Given the description of an element on the screen output the (x, y) to click on. 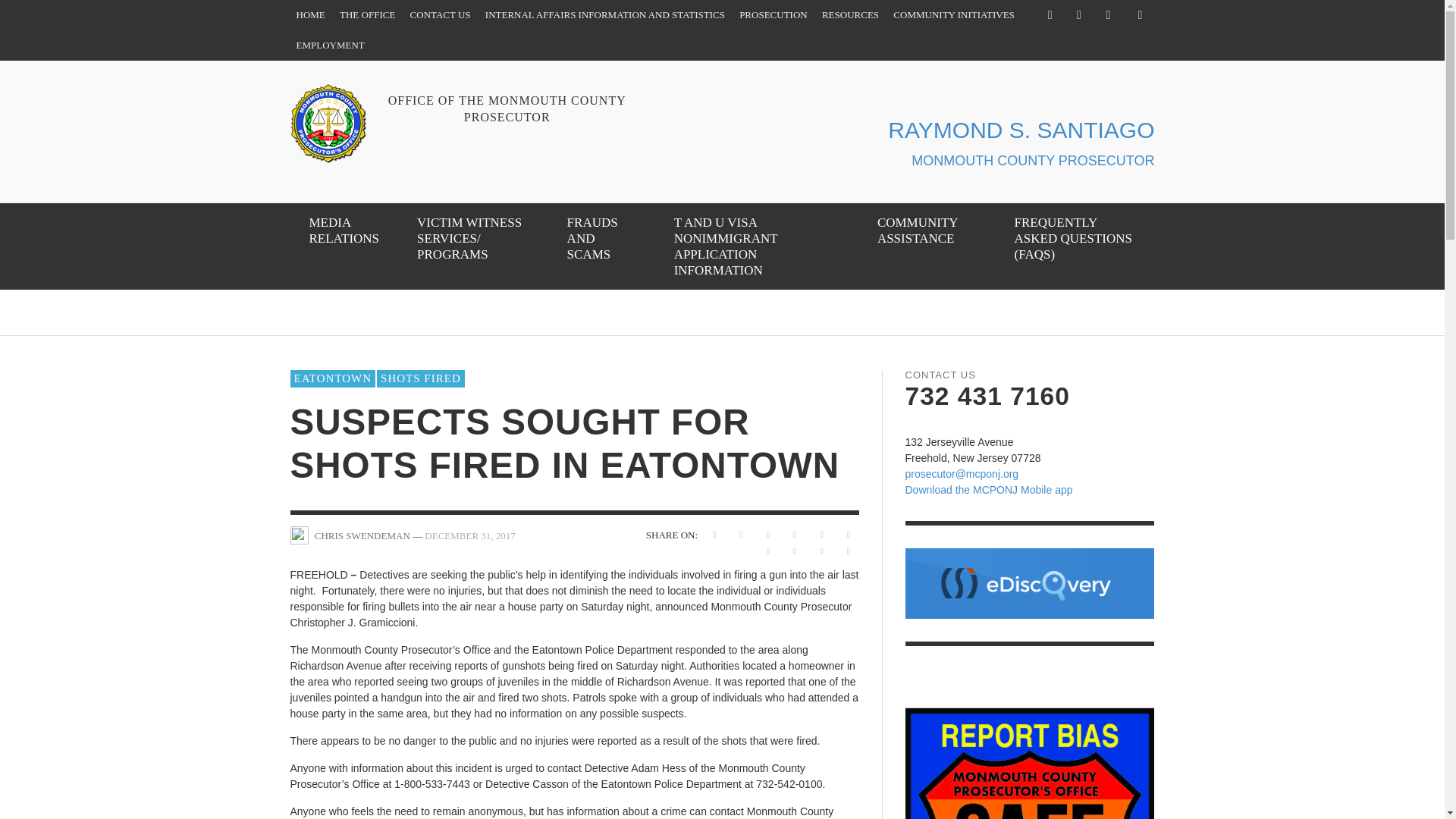
INTERNAL AFFAIRS INFORMATION AND STATISTICS (604, 15)
Facebook (1049, 15)
HOME (309, 15)
Twitter (1078, 15)
Youtube (1107, 15)
PROSECUTION (773, 15)
CONTACT US (440, 15)
THE OFFICE (367, 15)
